Given the description of an element on the screen output the (x, y) to click on. 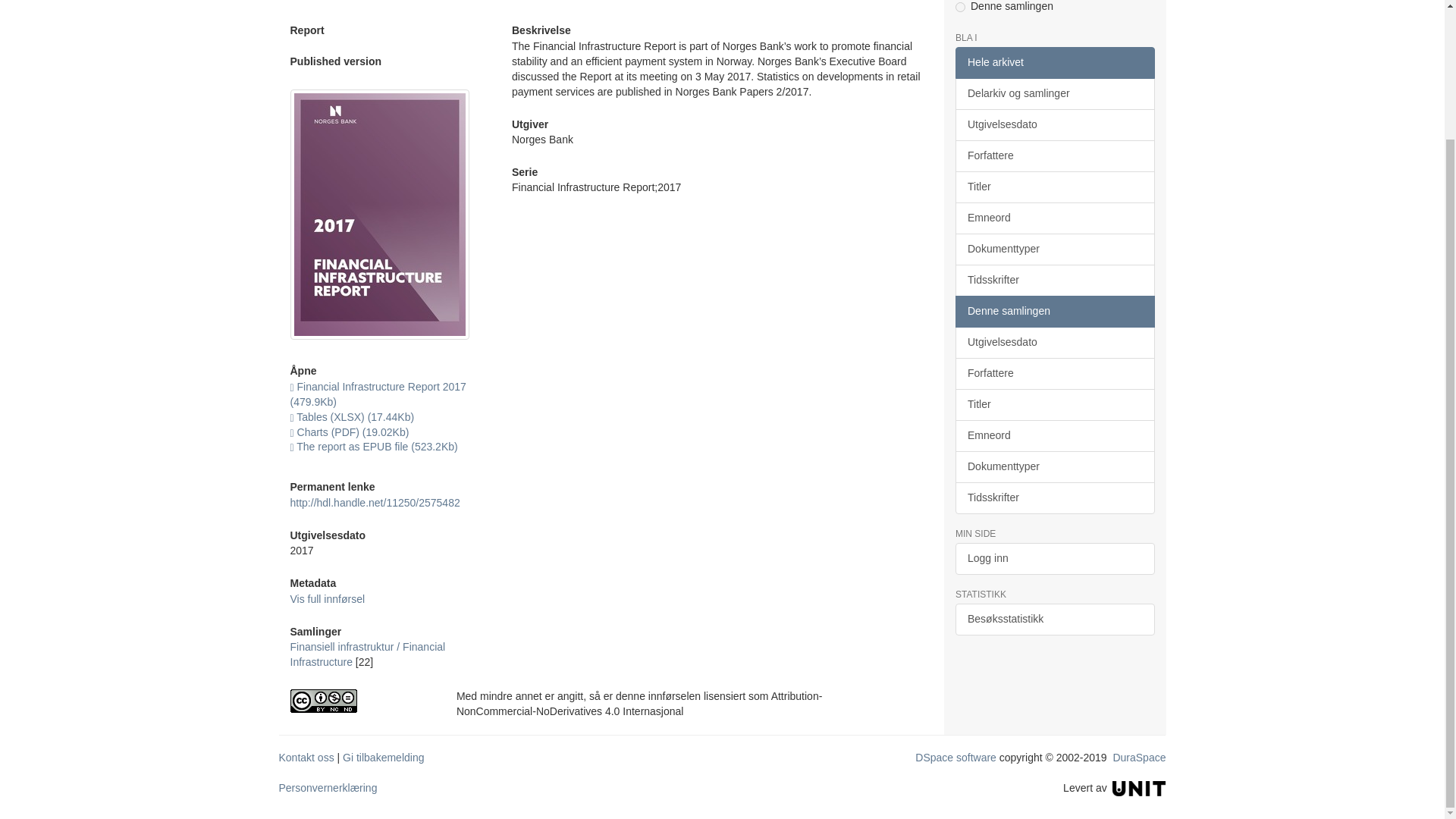
Hele arkivet (1054, 62)
Utgivelsesdato (1054, 124)
Forfattere (1054, 155)
Delarkiv og samlinger (1054, 93)
Attribution-NonCommercial-NoDerivatives 4.0 Internasjonal (360, 700)
Unit (1139, 787)
